Given the description of an element on the screen output the (x, y) to click on. 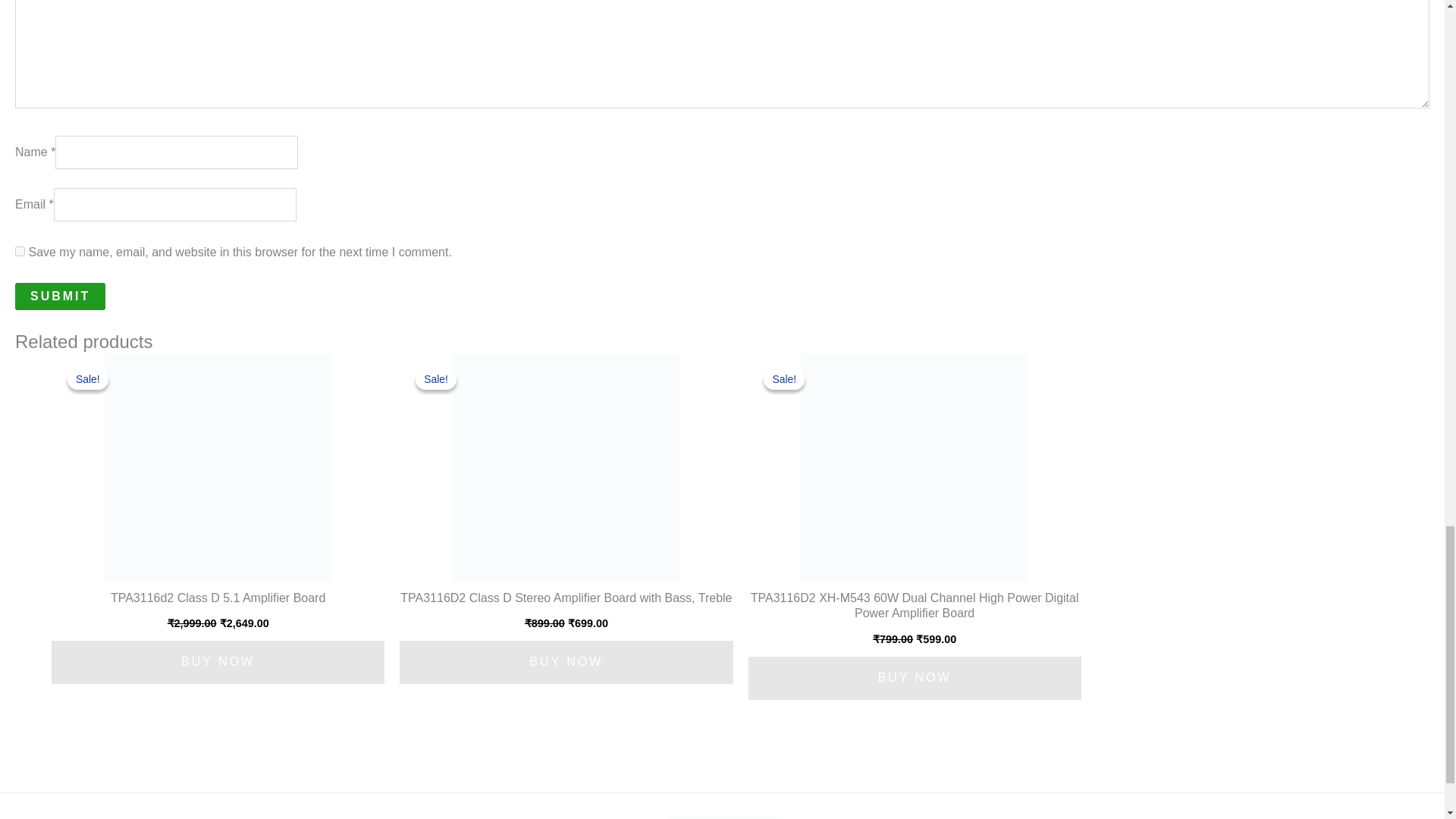
yes (19, 251)
Submit (59, 296)
